Given the description of an element on the screen output the (x, y) to click on. 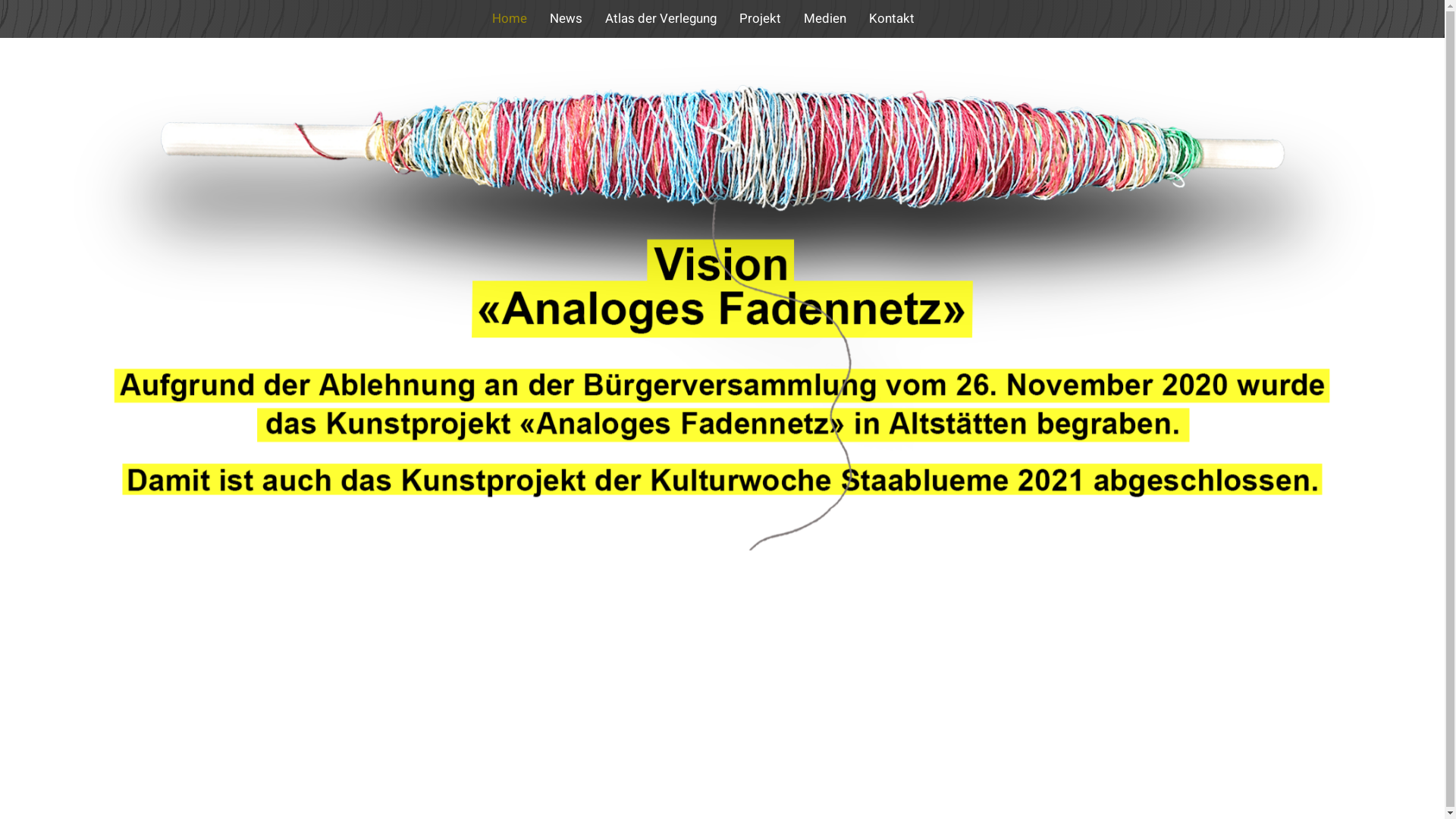
Home Element type: text (509, 18)
Medien Element type: text (824, 18)
Atlas der Verlegung Element type: text (660, 18)
News Element type: text (565, 18)
Kontakt Element type: text (891, 18)
Projekt Element type: text (760, 18)
